Given the description of an element on the screen output the (x, y) to click on. 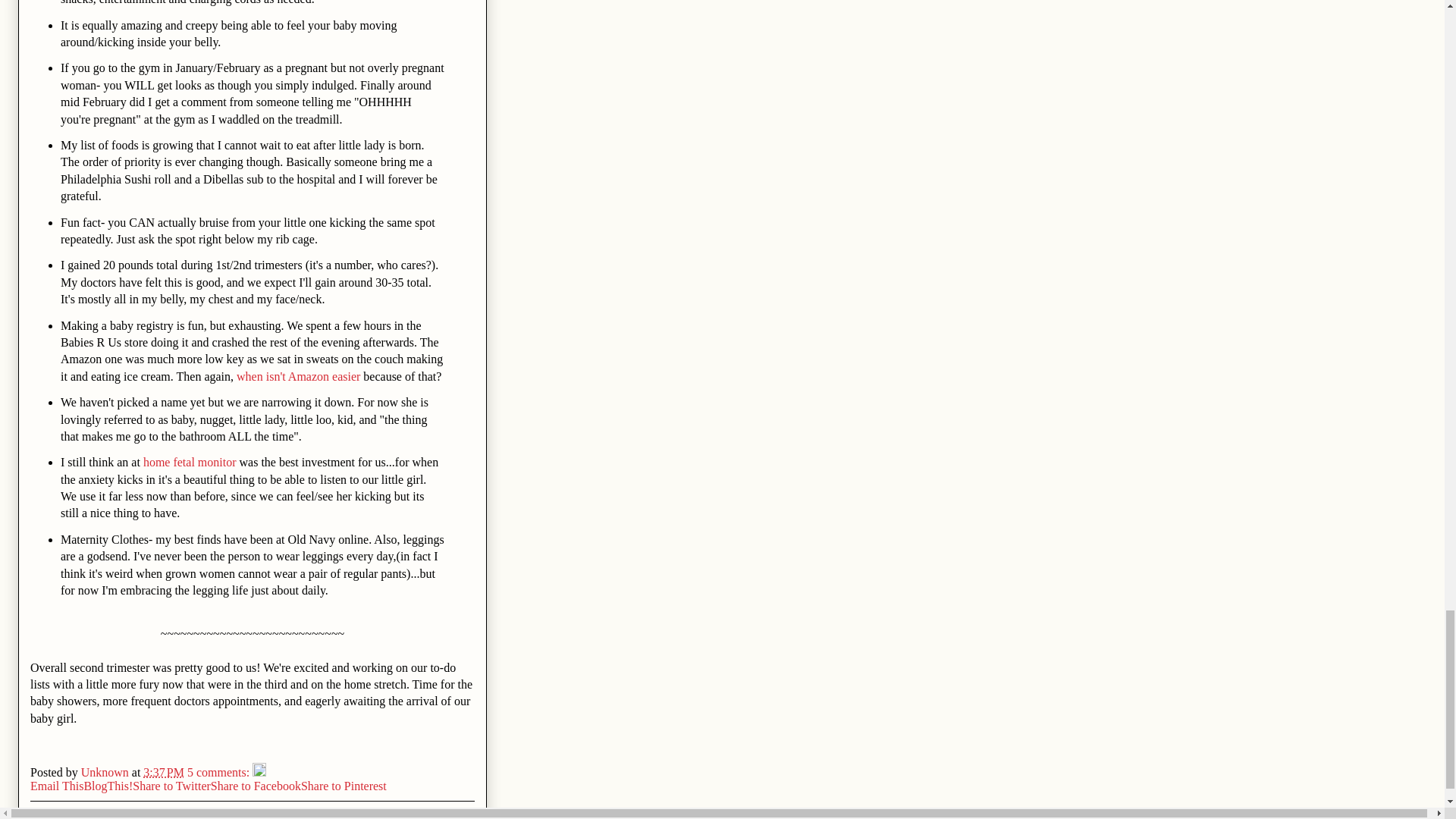
permanent link (163, 771)
Share to Pinterest (344, 785)
home fetal monitor (188, 461)
BlogThis! (107, 785)
Share to Pinterest (344, 785)
when isn't Amazon easier (297, 376)
Edit Post (258, 771)
Share to Twitter (171, 785)
BlogThis! (107, 785)
Share to Facebook (256, 785)
